Given the description of an element on the screen output the (x, y) to click on. 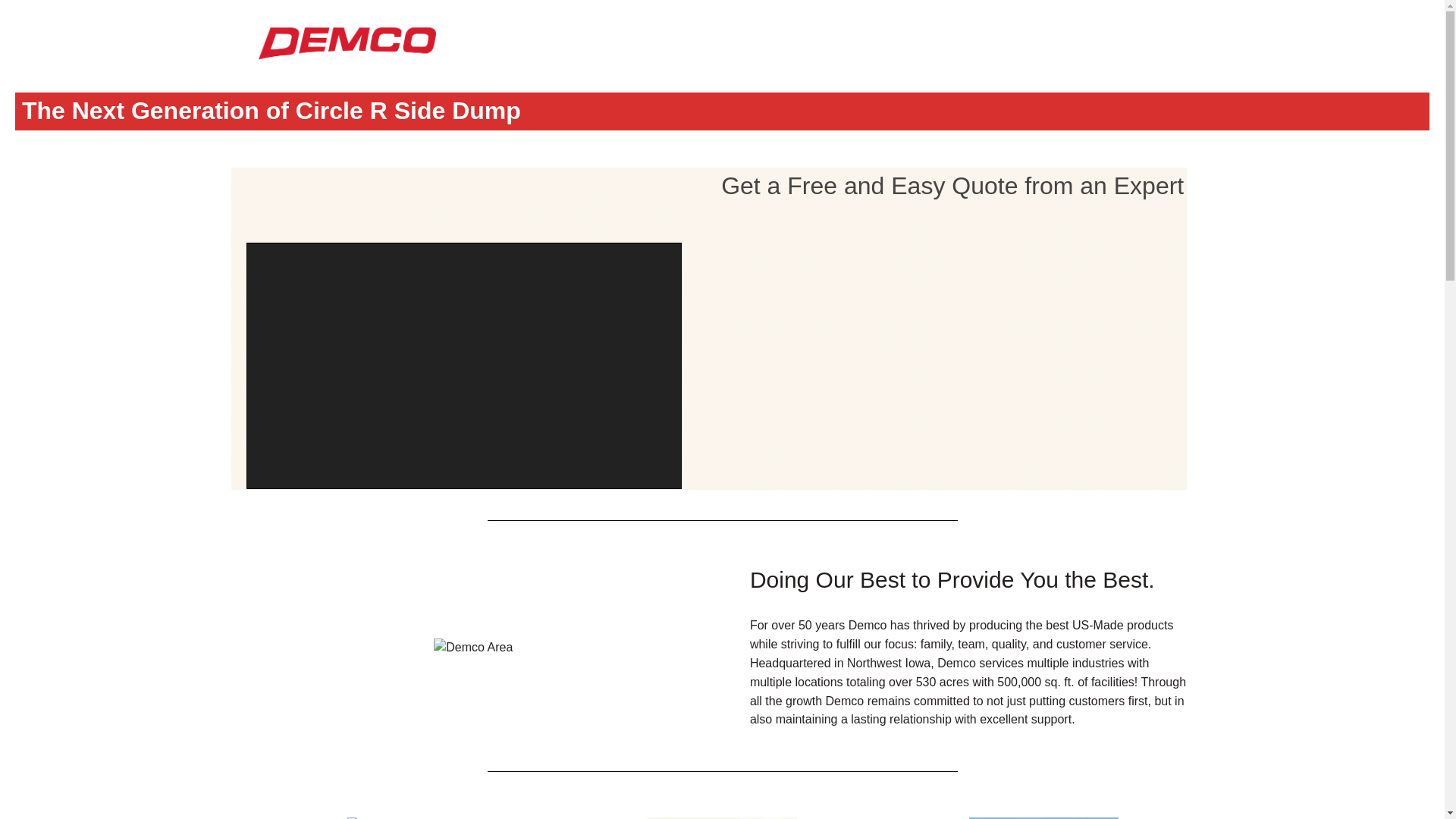
Demco Area (472, 647)
